Given the description of an element on the screen output the (x, y) to click on. 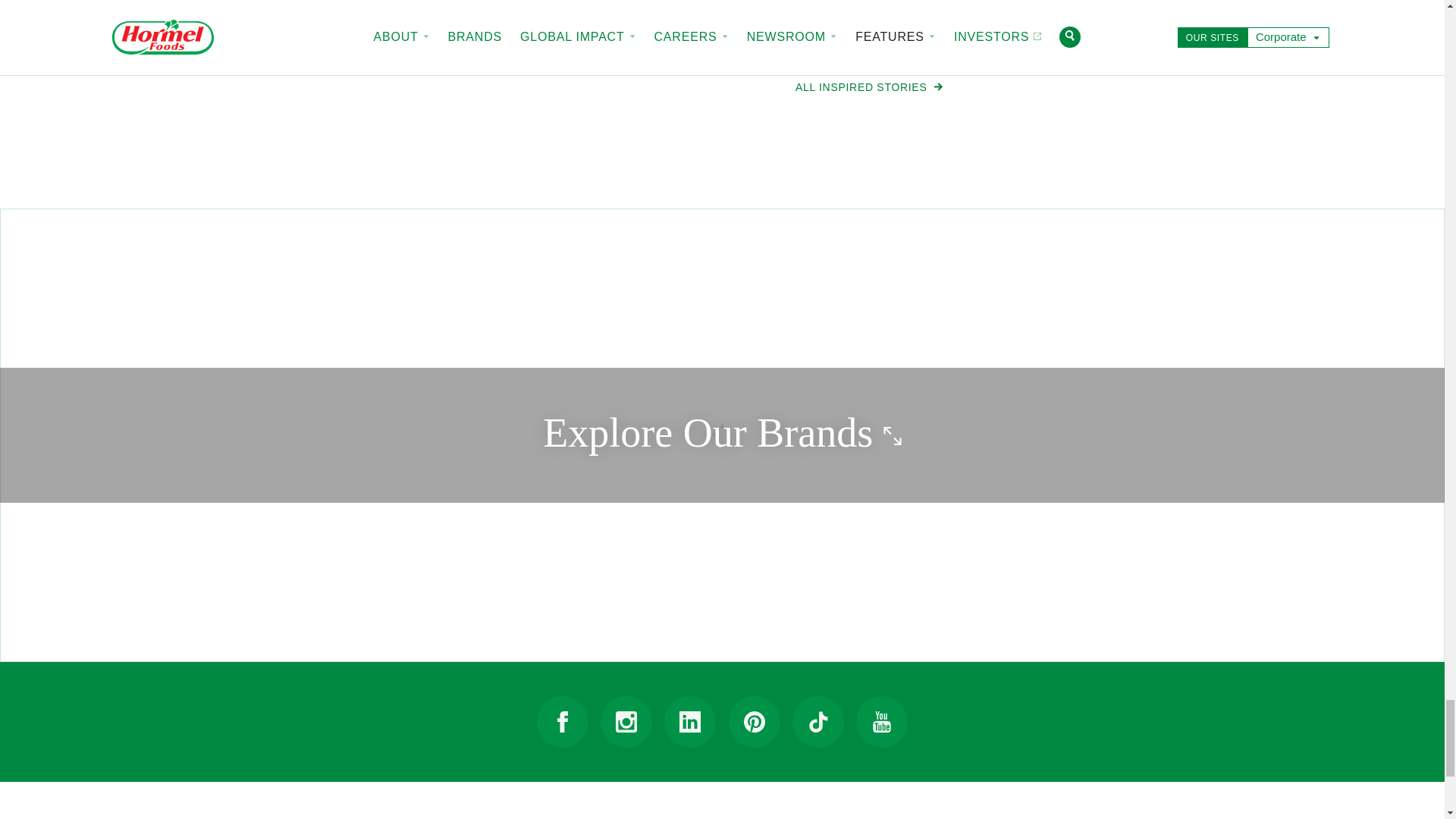
Linkedin (689, 721)
Pinterest (754, 721)
Youtube (881, 721)
Facebook (562, 721)
Tiktok (818, 721)
Instagram (625, 721)
